Given the description of an element on the screen output the (x, y) to click on. 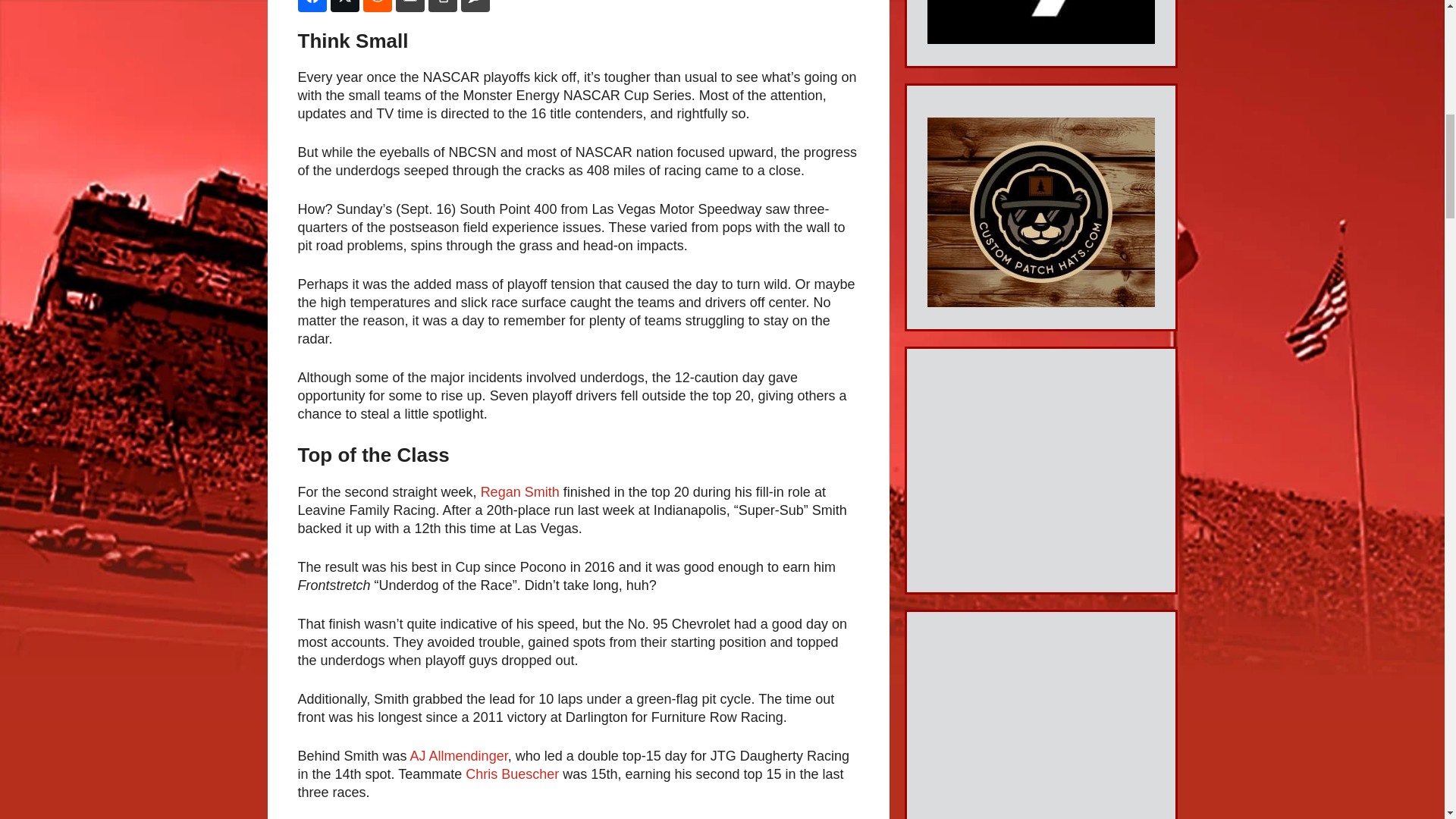
Share on Copy Link (442, 6)
AJ Allmendinger (459, 755)
Share on Reddit (376, 6)
Share on Facebook (311, 6)
Chris Buescher (512, 774)
Share on Email (410, 6)
Regan Smith (519, 491)
Share on Twitter (344, 6)
Share on Comments (475, 6)
